Given the description of an element on the screen output the (x, y) to click on. 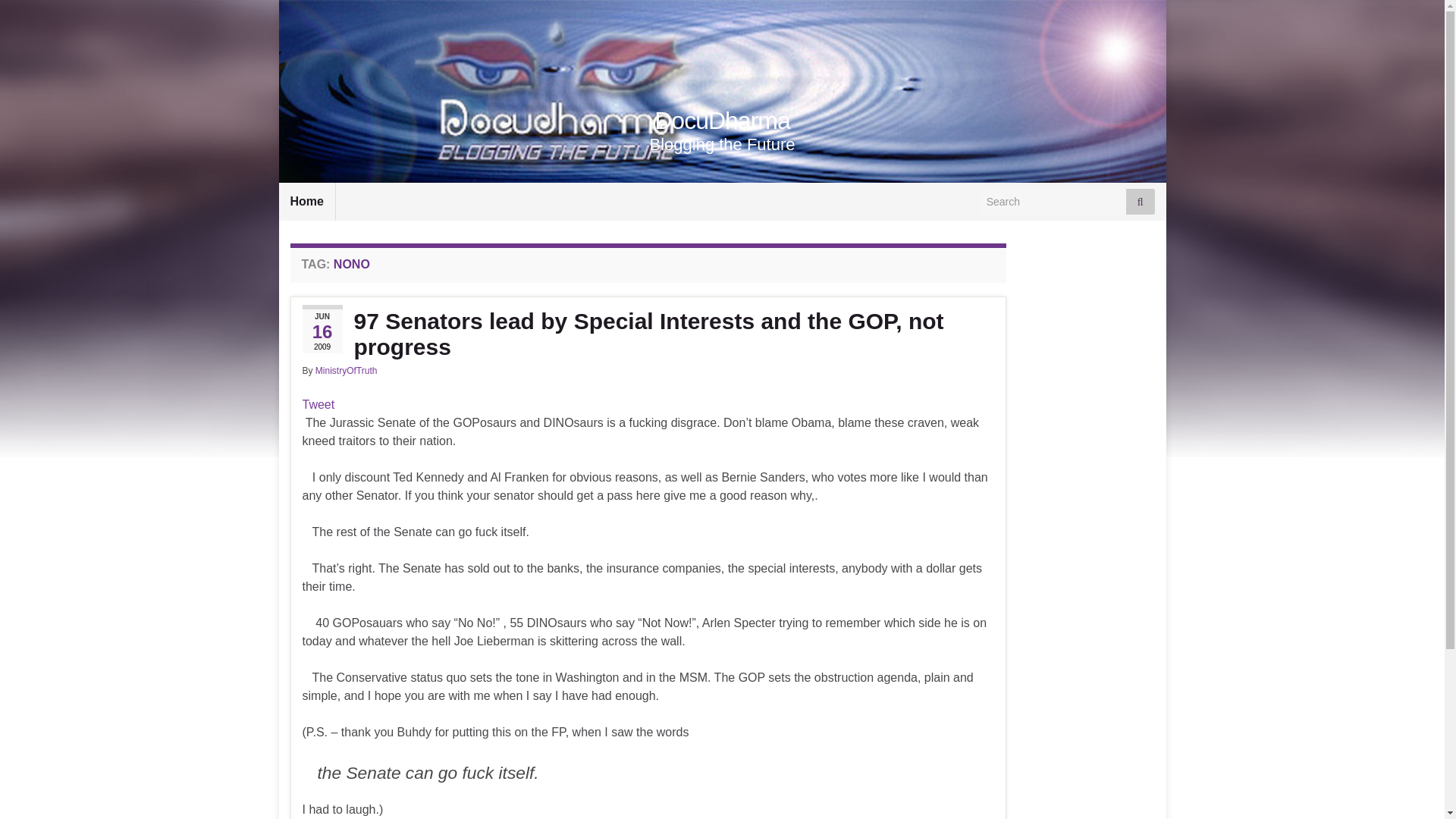
MinistryOfTruth (346, 370)
DocuDharma (721, 120)
Go back to the front page (721, 120)
Home (306, 201)
Tweet (317, 404)
